Given the description of an element on the screen output the (x, y) to click on. 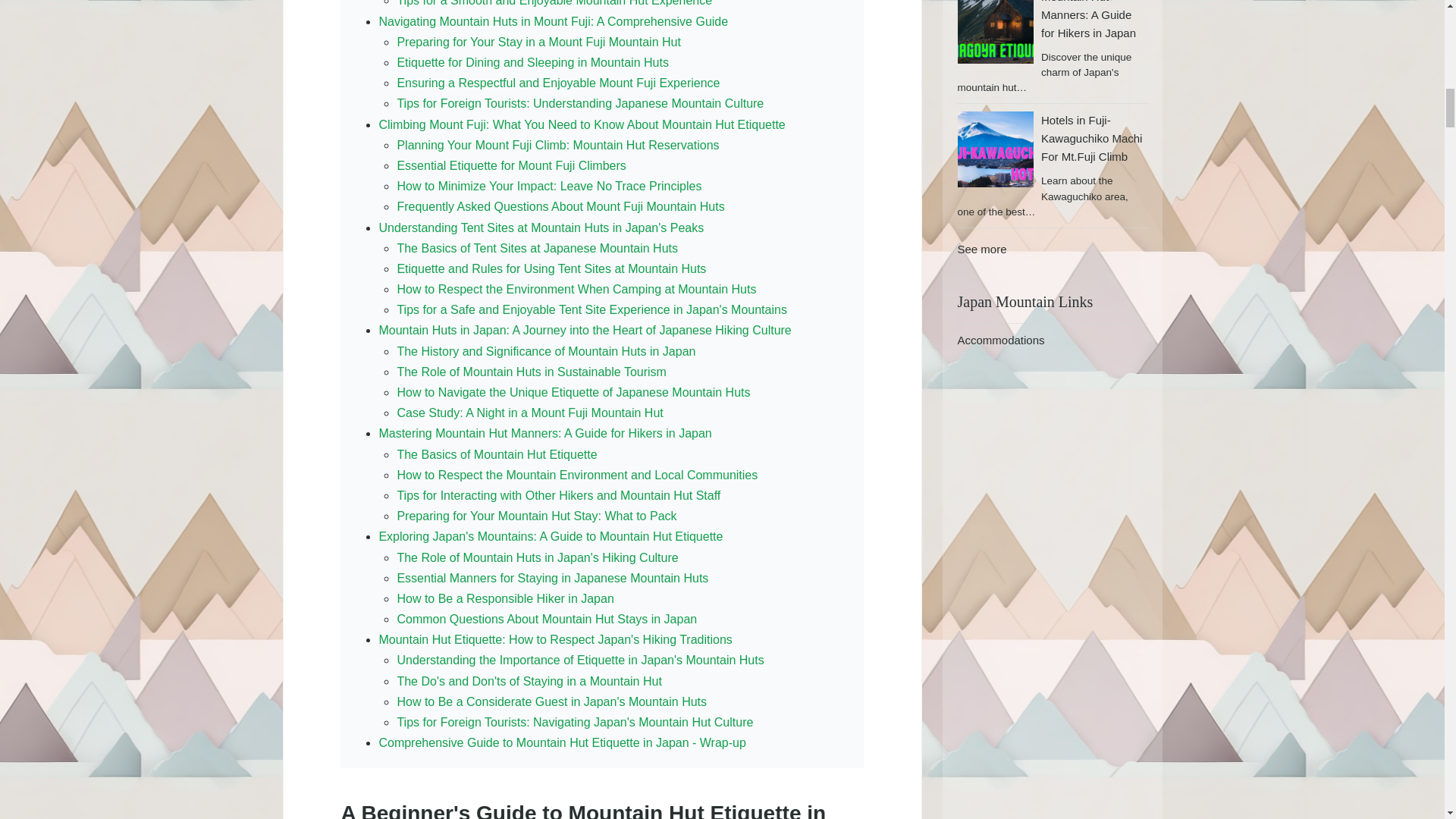
Preparing for Your Stay in a Mount Fuji Mountain Hut (537, 42)
Tips for a Smooth and Enjoyable Mountain Hut Experience (553, 3)
Ensuring a Respectful and Enjoyable Mount Fuji Experience (557, 82)
Planning Your Mount Fuji Climb: Mountain Hut Reservations (557, 144)
Essential Etiquette for Mount Fuji Climbers (511, 164)
How to Minimize Your Impact: Leave No Trace Principles (548, 185)
Etiquette for Dining and Sleeping in Mountain Huts (532, 62)
